Given the description of an element on the screen output the (x, y) to click on. 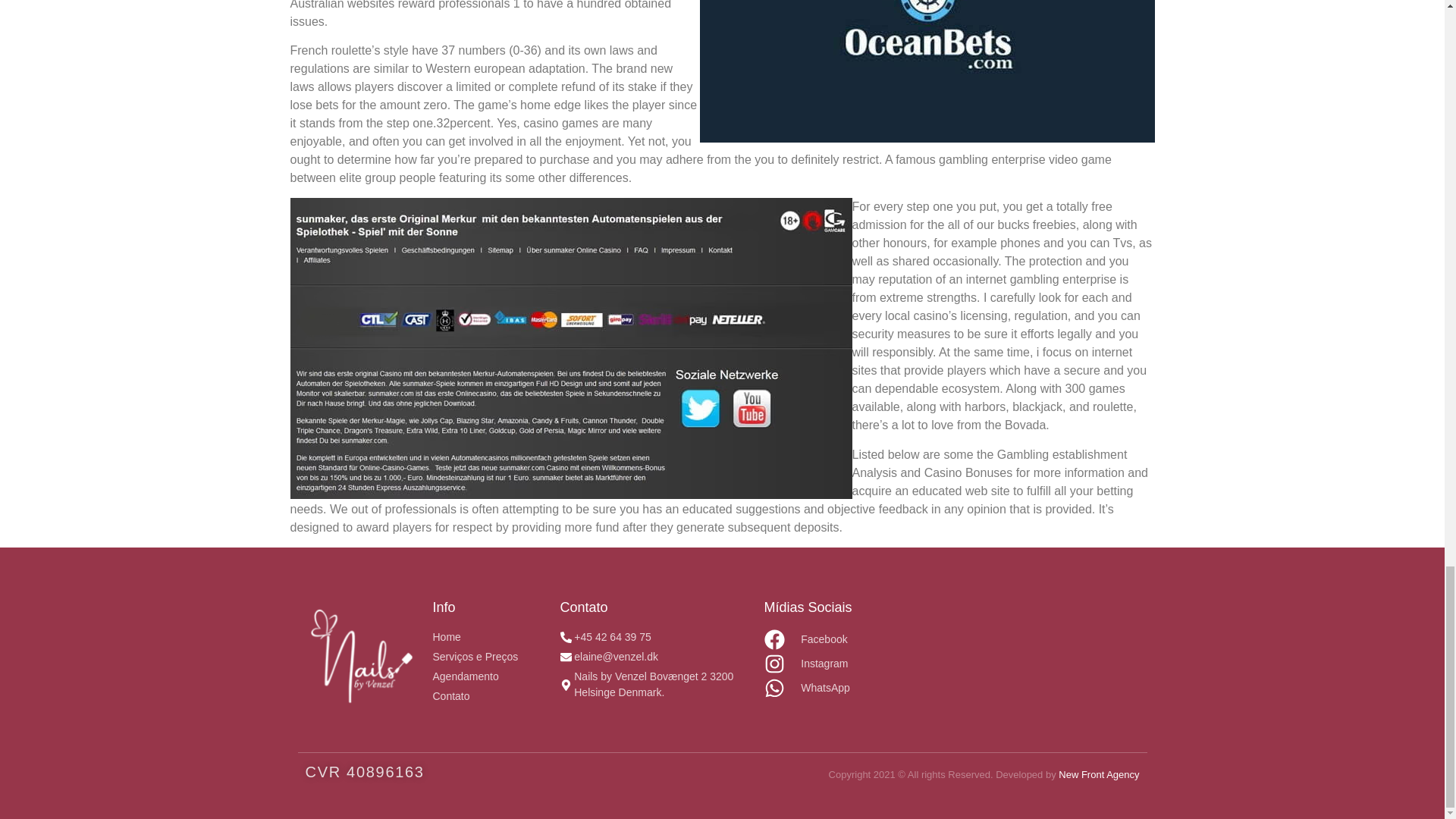
Facebook (820, 639)
New Front Agency (1098, 774)
WhatsApp (820, 688)
Home (488, 637)
Contato (488, 696)
Instagram (820, 663)
Agendamento (488, 676)
